Given the description of an element on the screen output the (x, y) to click on. 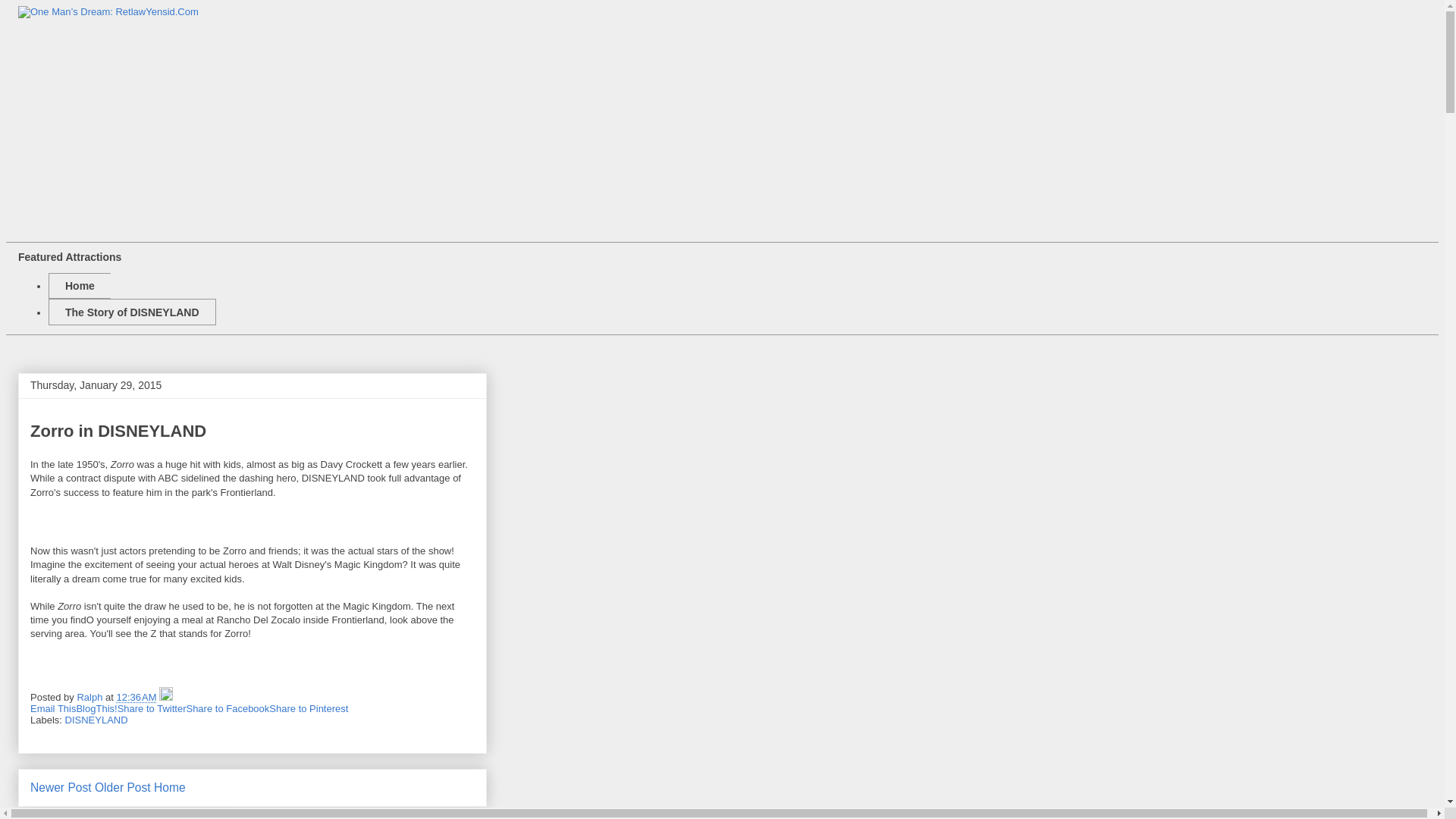
Newer Post (60, 787)
Share to Twitter (151, 708)
Newer Post (60, 787)
Older Post (122, 787)
Older Post (122, 787)
Email This (52, 708)
author profile (90, 696)
BlogThis! (95, 708)
Edit Post (165, 696)
Share to Pinterest (308, 708)
Share to Facebook (227, 708)
Home (170, 787)
Home (79, 285)
permanent link (136, 696)
